Given the description of an element on the screen output the (x, y) to click on. 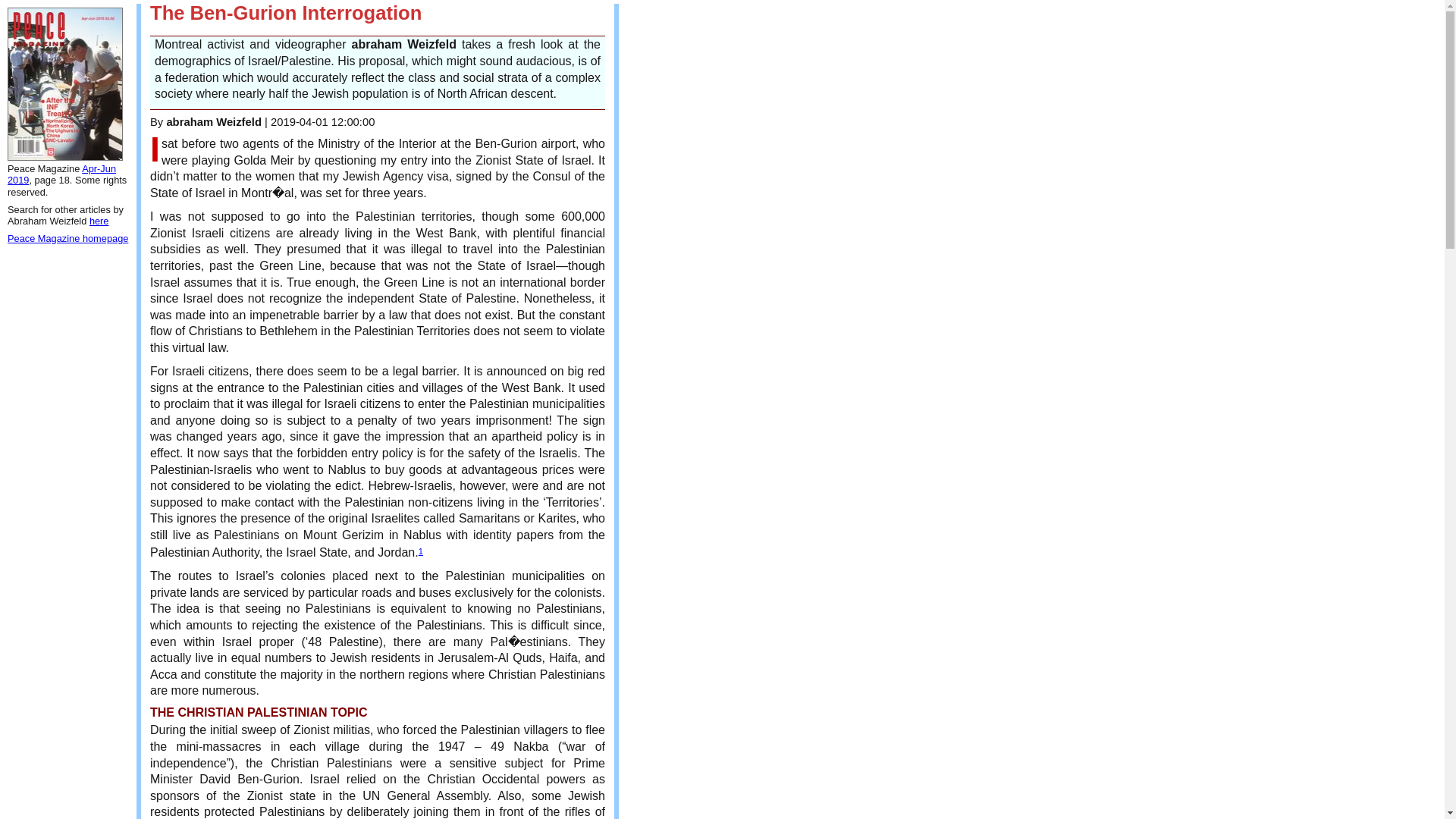
here (98, 220)
Peace Magazine homepage (67, 238)
Apr-Jun 2019 (61, 173)
